Given the description of an element on the screen output the (x, y) to click on. 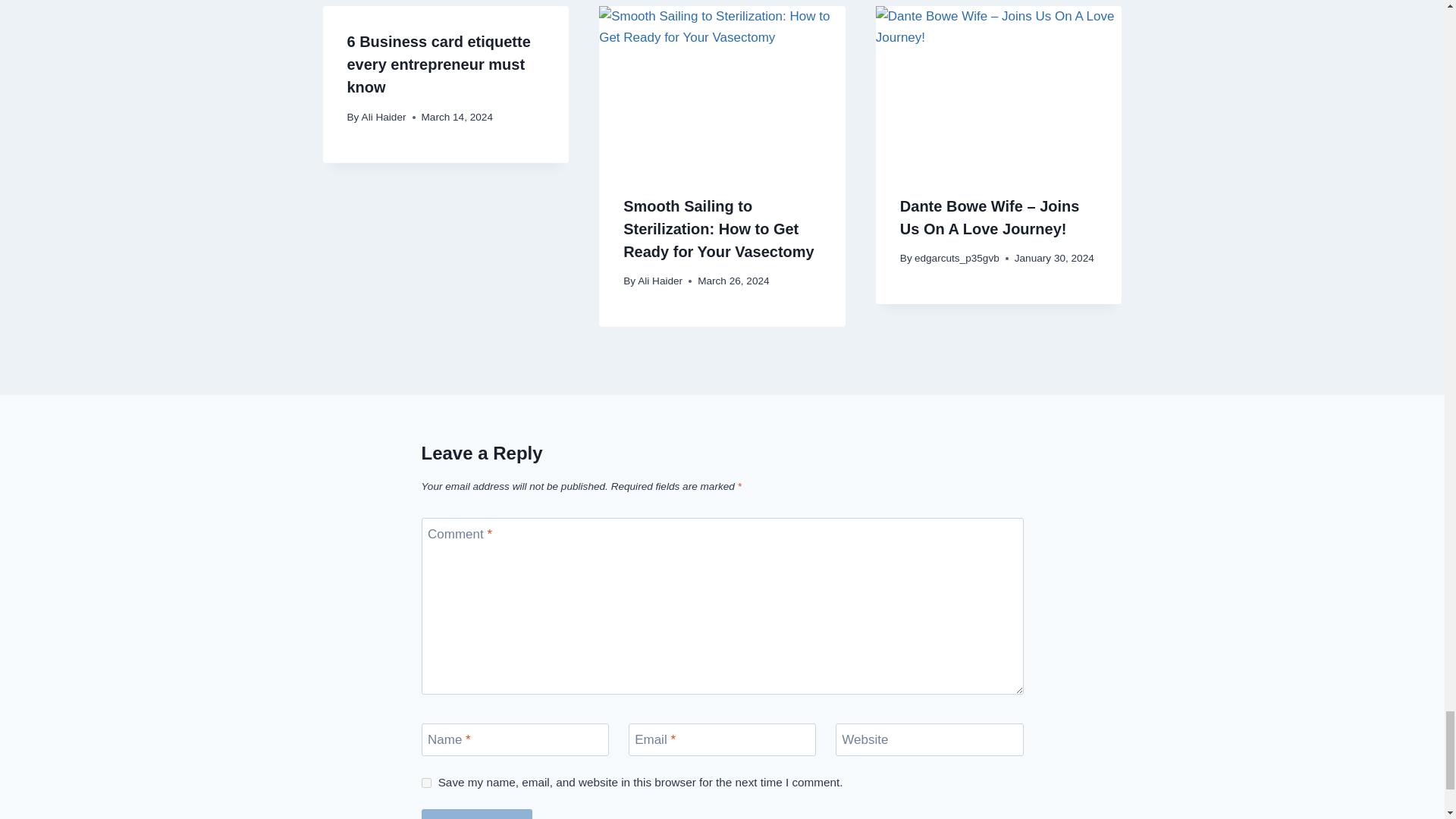
Post Comment (477, 814)
yes (426, 782)
